Given the description of an element on the screen output the (x, y) to click on. 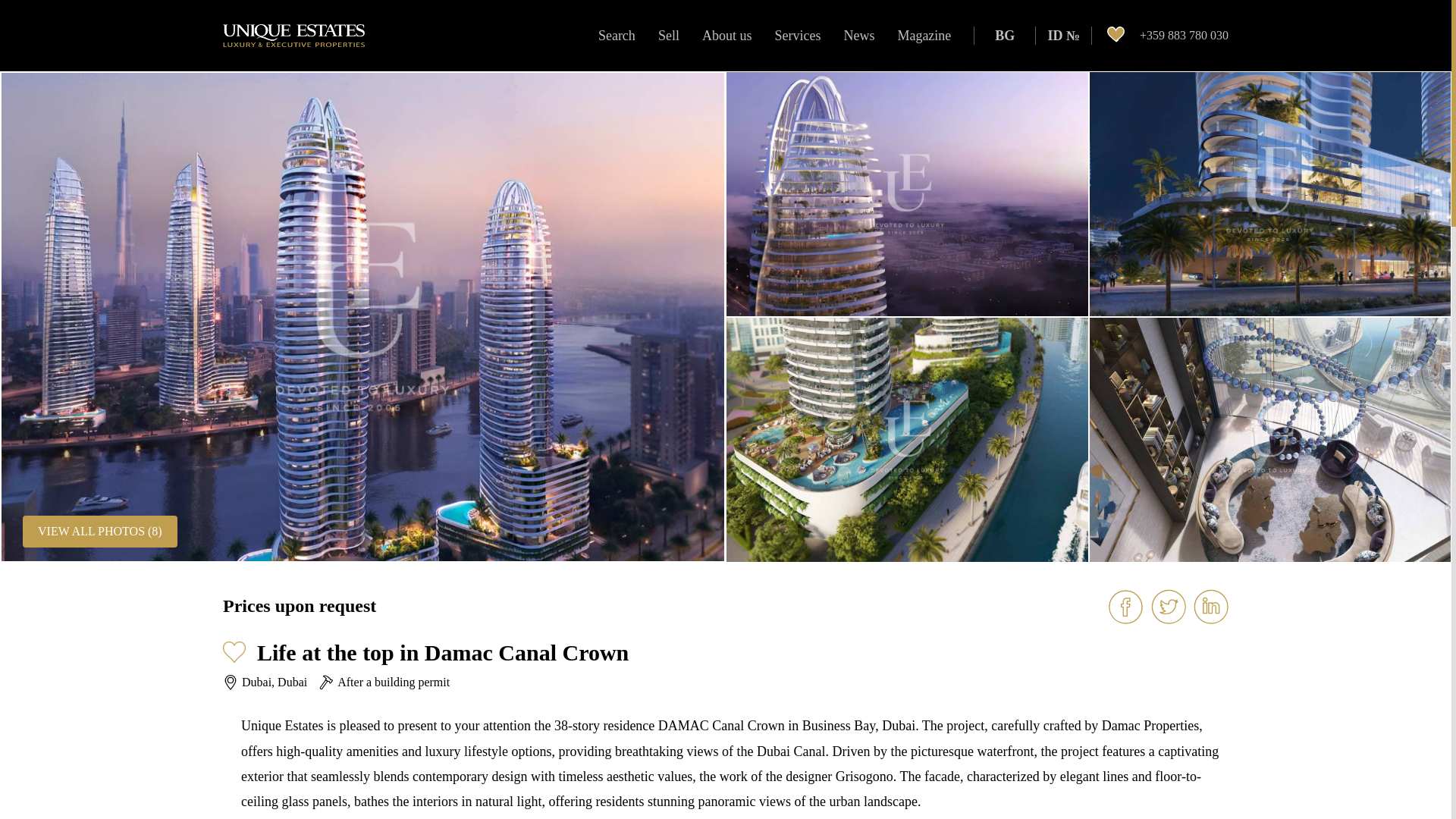
Call us (1184, 34)
Share on Twitter (1168, 606)
Add to favourites (234, 652)
Search (616, 35)
Sell (668, 35)
My Favourites (1115, 35)
About us (726, 35)
Share on Facebook (1125, 606)
Share on LinkedIn (1210, 606)
Search offer by Ref.ID (1062, 35)
Luxury Real Estate and Executive Properties (293, 35)
